Given the description of an element on the screen output the (x, y) to click on. 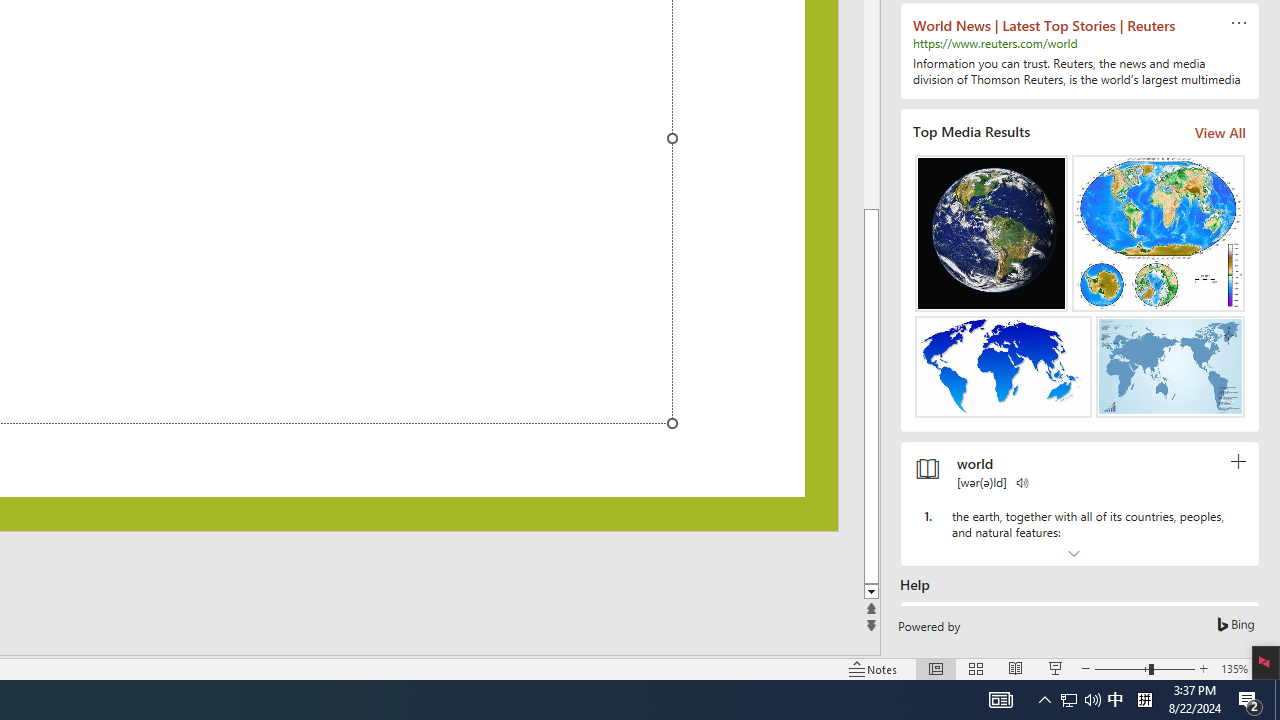
Zoom 135% (1234, 668)
